Given the description of an element on the screen output the (x, y) to click on. 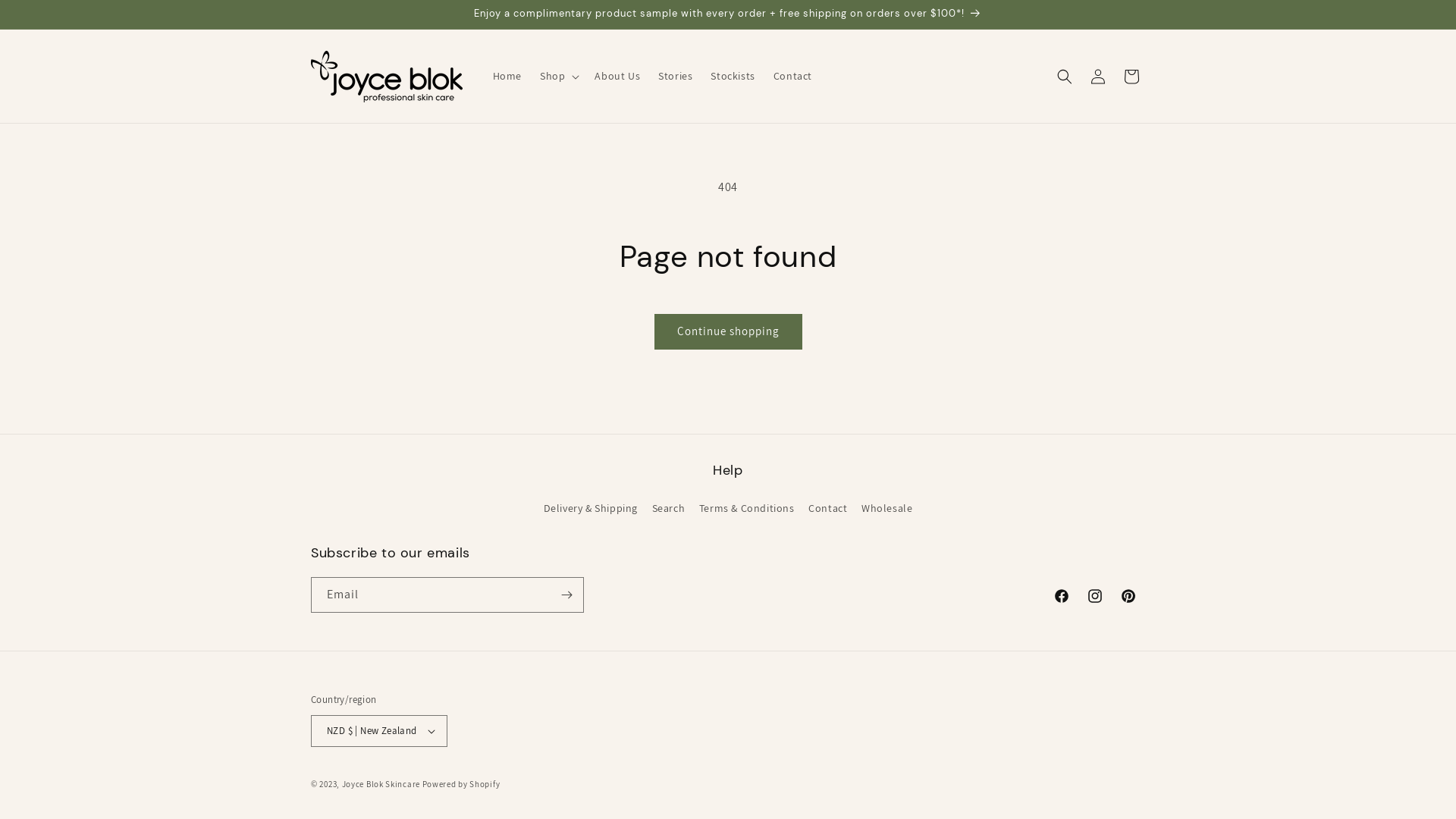
Continue shopping Element type: text (727, 331)
Cart Element type: text (1131, 75)
Stories Element type: text (675, 75)
Log in Element type: text (1097, 75)
Wholesale Element type: text (886, 508)
Instagram Element type: text (1094, 595)
Powered by Shopify Element type: text (461, 783)
Delivery & Shipping Element type: text (590, 509)
Search Element type: text (668, 508)
Contact Element type: text (792, 75)
Terms & Conditions Element type: text (746, 508)
Home Element type: text (506, 75)
Joyce Blok Skincare Element type: text (381, 783)
About Us Element type: text (617, 75)
Facebook Element type: text (1061, 595)
Contact Element type: text (827, 508)
Stockists Element type: text (732, 75)
Pinterest Element type: text (1128, 595)
NZD $ | New Zealand Element type: text (378, 730)
